Given the description of an element on the screen output the (x, y) to click on. 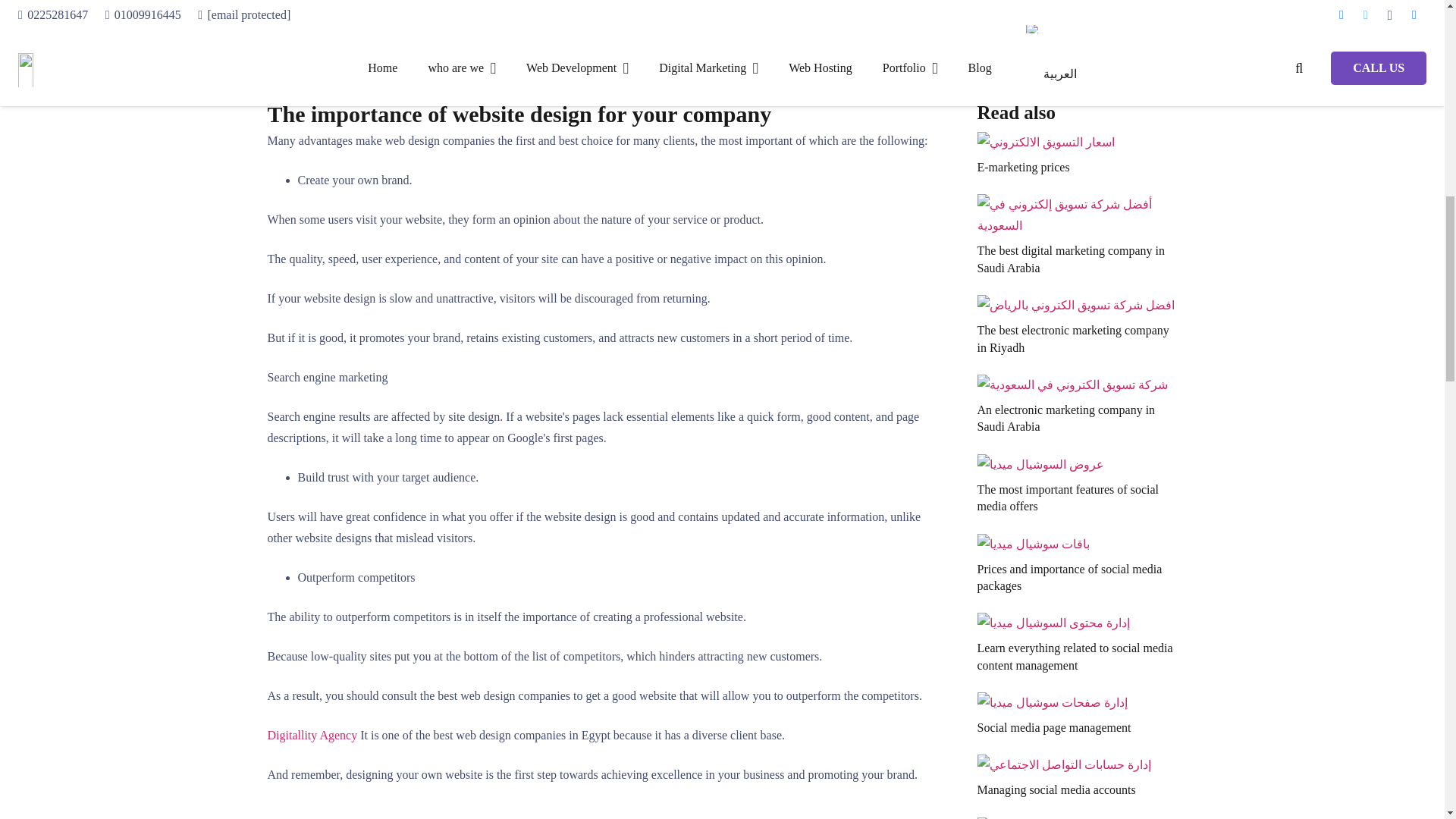
Digitallity Agency (311, 735)
Back to top (1413, 30)
